Given the description of an element on the screen output the (x, y) to click on. 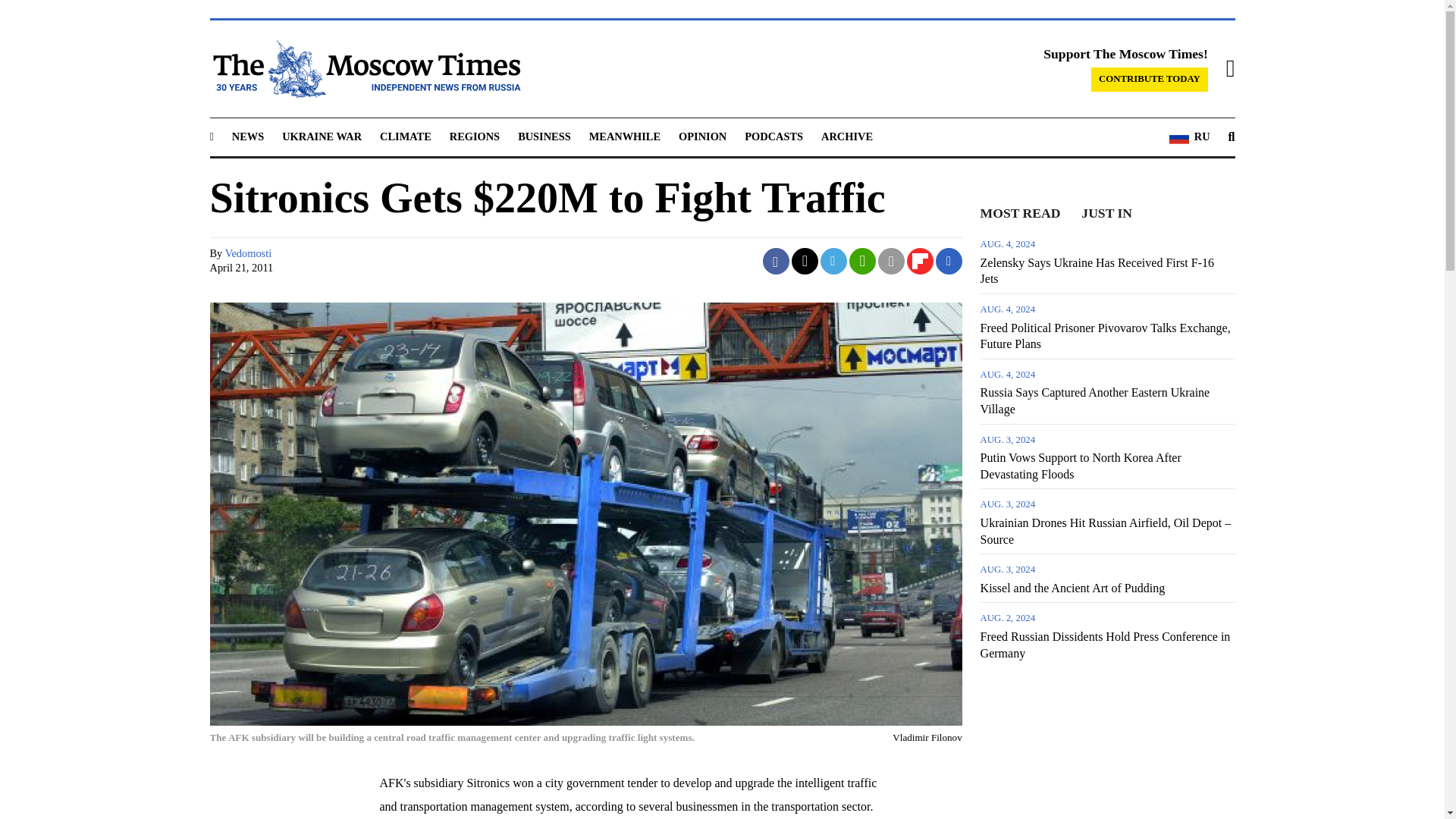
Share on Facebook (775, 261)
Share on Telegram (834, 261)
Share on Twitter (805, 261)
BUSINESS (544, 136)
REGIONS (474, 136)
RU (1189, 137)
UKRAINE WAR (321, 136)
OPINION (702, 136)
PODCASTS (773, 136)
NEWS (247, 136)
CONTRIBUTE TODAY (1149, 79)
MEANWHILE (625, 136)
ARCHIVE (846, 136)
